Given the description of an element on the screen output the (x, y) to click on. 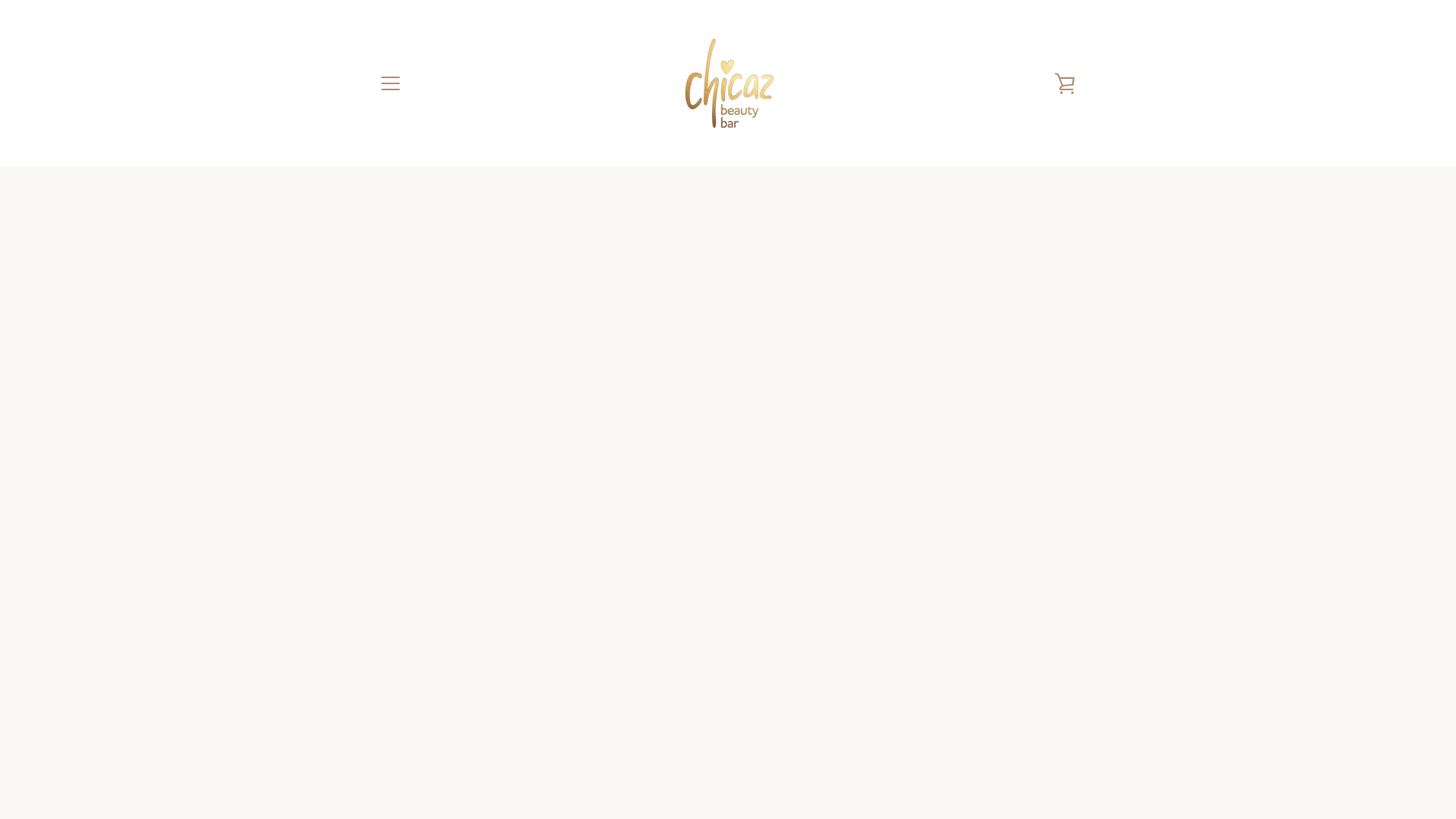
MENU Element type: text (390, 83)
WINKELWAGEN BEKIJKEN Element type: text (1065, 83)
Meteen naar de content Element type: text (0, 0)
